Given the description of an element on the screen output the (x, y) to click on. 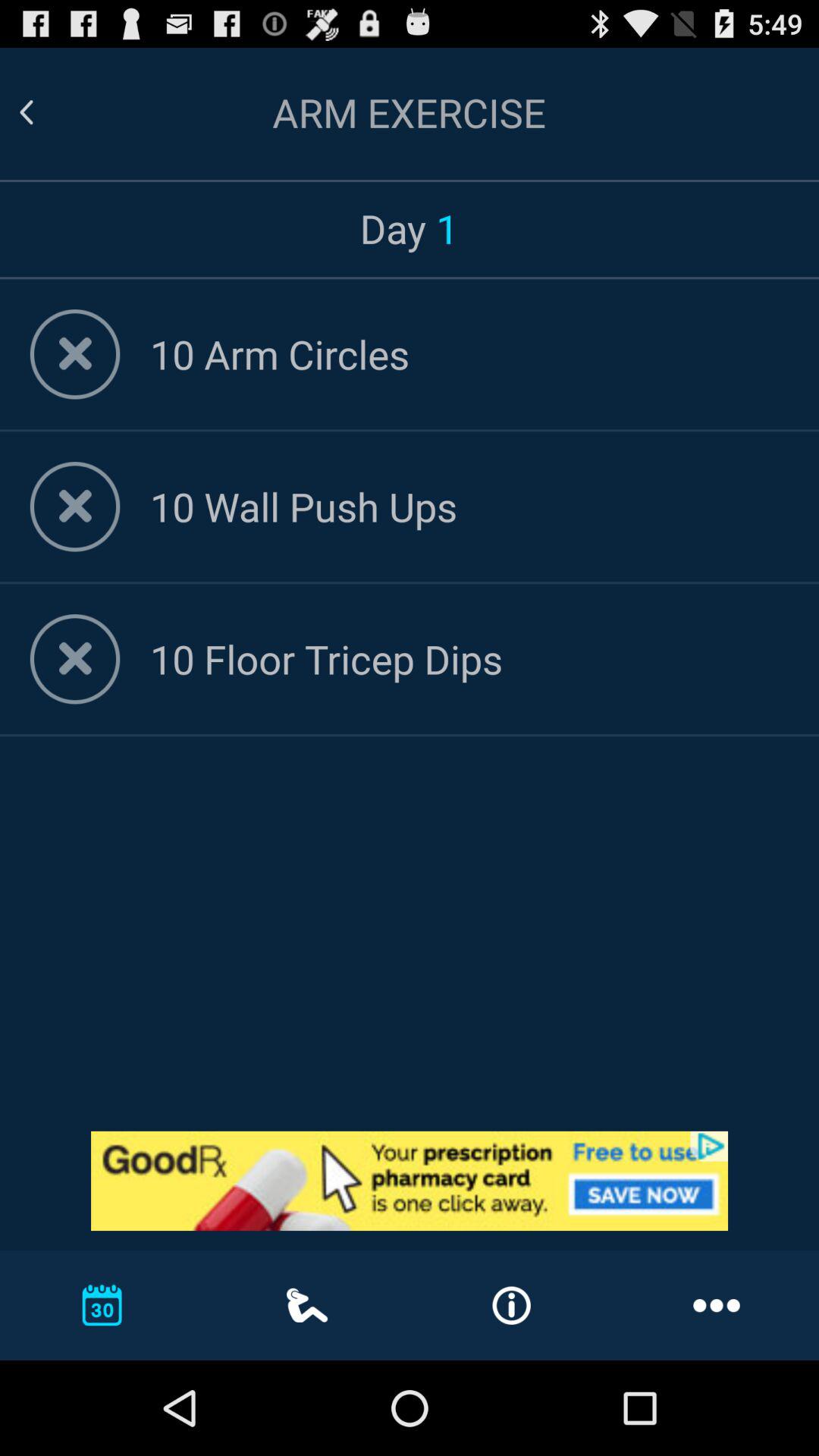
important to know (409, 1180)
